Given the description of an element on the screen output the (x, y) to click on. 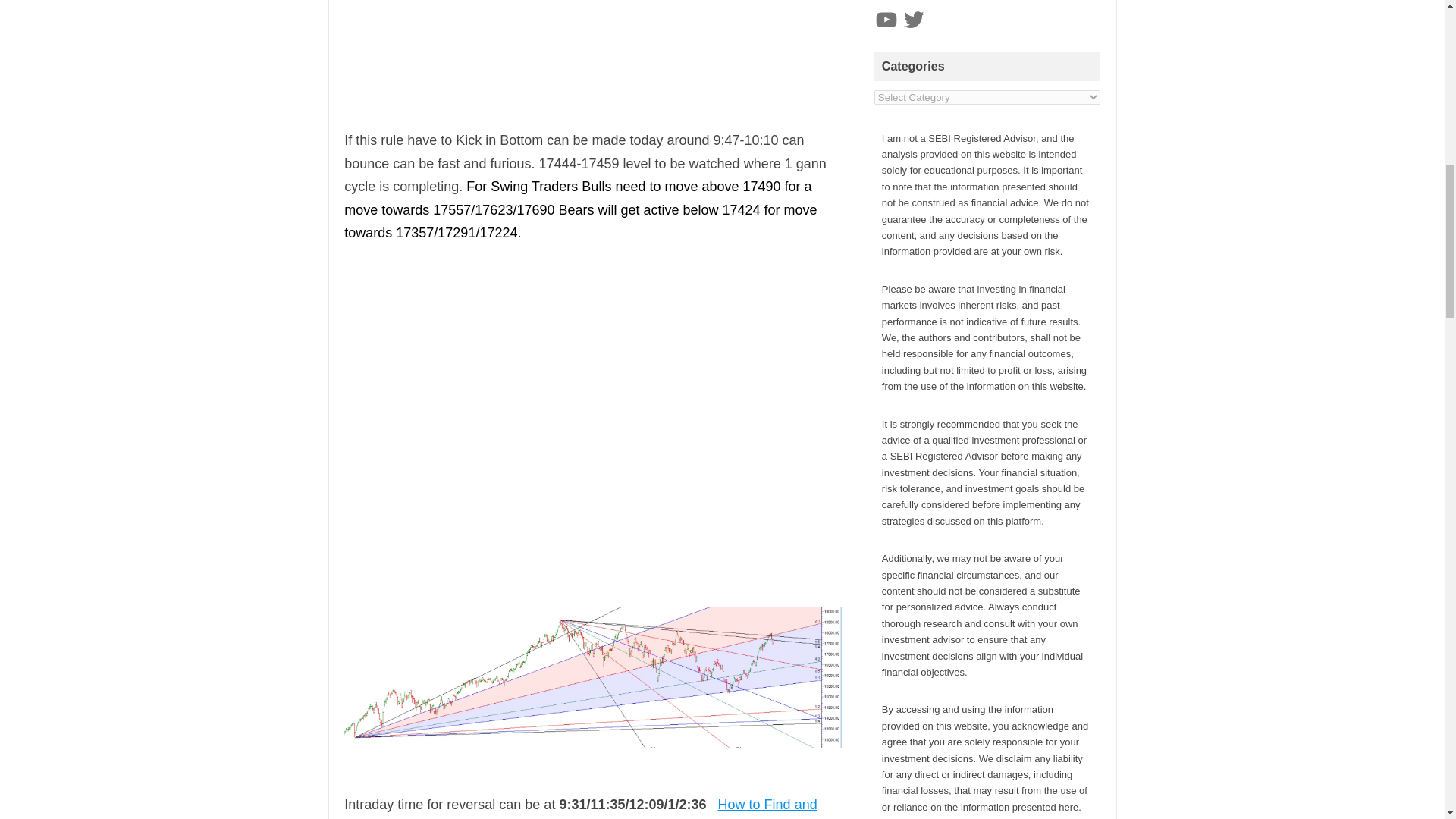
How to Find and Trade Intraday Reversal Times (579, 807)
Advertisement (592, 56)
